Given the description of an element on the screen output the (x, y) to click on. 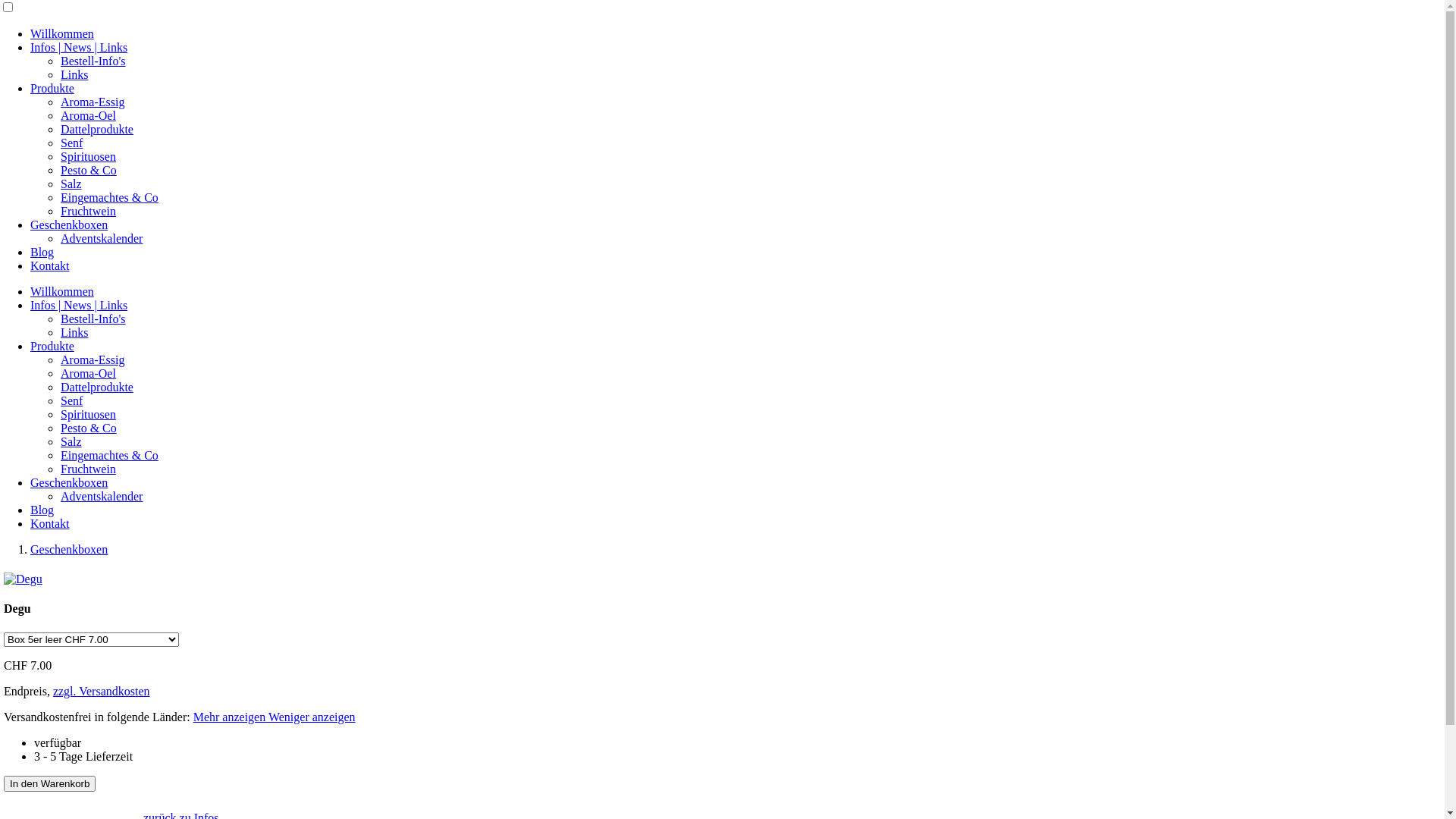
Links Element type: text (73, 332)
Geschenkboxen Element type: text (68, 482)
Links Element type: text (73, 74)
Aroma-Essig Element type: text (92, 101)
Eingemachtes & Co Element type: text (109, 454)
Aroma-Essig Element type: text (92, 359)
Senf Element type: text (71, 142)
Dattelprodukte Element type: text (96, 386)
Geschenkboxen Element type: text (68, 224)
Kontakt Element type: text (49, 265)
Salz Element type: text (70, 441)
Pesto & Co Element type: text (88, 427)
Blog Element type: text (41, 509)
Adventskalender Element type: text (101, 238)
Bestell-Info's Element type: text (92, 60)
Bestell-Info's Element type: text (92, 318)
In den Warenkorb Element type: text (49, 783)
Pesto & Co Element type: text (88, 169)
zzgl. Versandkosten Element type: text (101, 690)
Infos | News | Links Element type: text (78, 46)
Dattelprodukte Element type: text (96, 128)
Senf Element type: text (71, 400)
Willkommen Element type: text (62, 33)
Adventskalender Element type: text (101, 495)
Fruchtwein Element type: text (88, 468)
Blog Element type: text (41, 251)
Kontakt Element type: text (49, 523)
Spirituosen Element type: text (88, 413)
Salz Element type: text (70, 183)
Eingemachtes & Co Element type: text (109, 197)
Aroma-Oel Element type: text (88, 373)
Produkte Element type: text (52, 87)
Fruchtwein Element type: text (88, 210)
Aroma-Oel Element type: text (88, 115)
Mehr anzeigen Weniger anzeigen Element type: text (274, 716)
Willkommen Element type: text (62, 291)
Produkte Element type: text (52, 345)
Infos | News | Links Element type: text (78, 304)
Spirituosen Element type: text (88, 156)
Geschenkboxen Element type: text (68, 548)
